Given the description of an element on the screen output the (x, y) to click on. 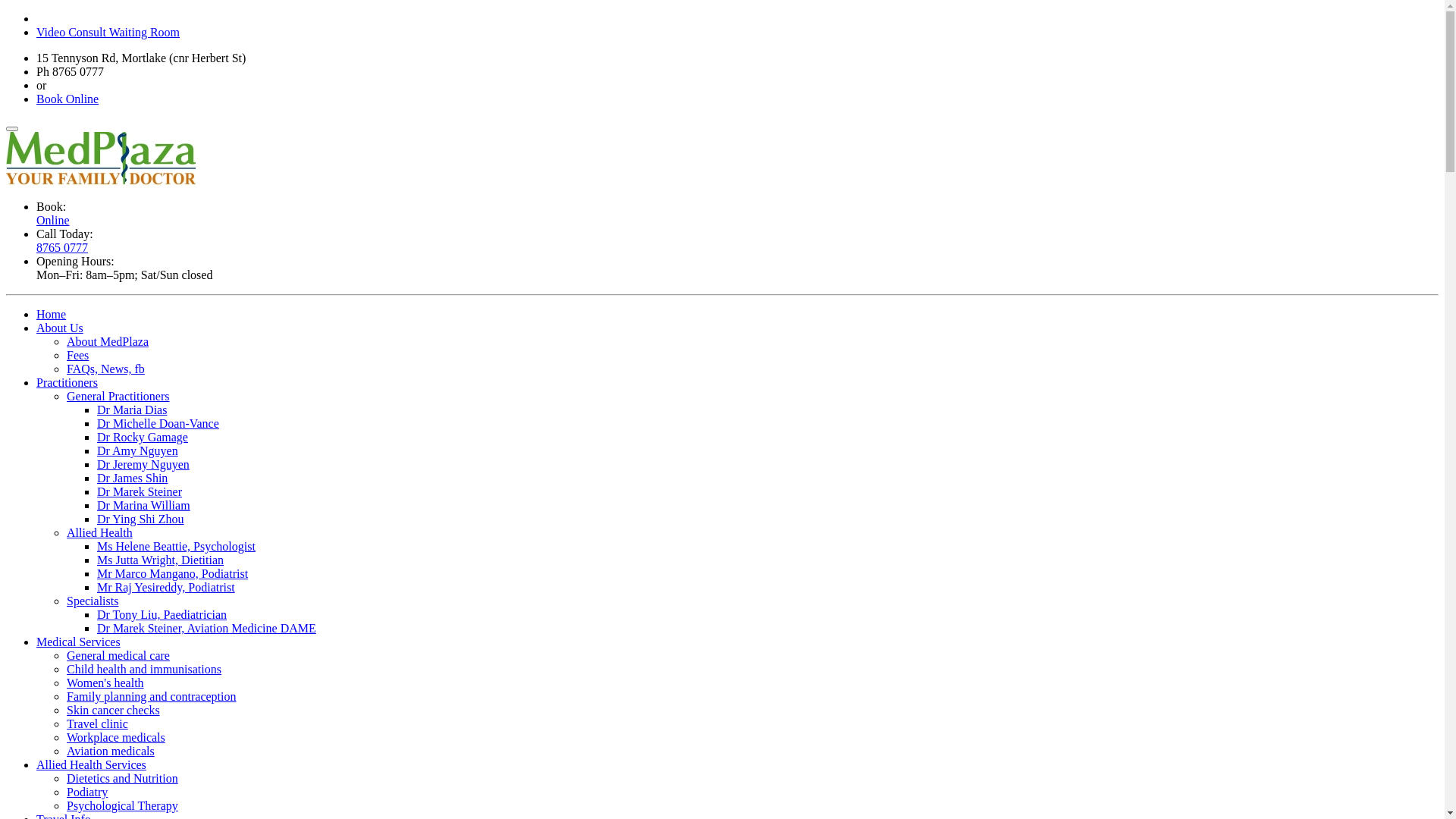
Mr Marco Mangano, Podiatrist Element type: text (172, 573)
Dr Marek Steiner, Aviation Medicine DAME Element type: text (206, 627)
Allied Health Element type: text (99, 532)
Child health and immunisations Element type: text (143, 668)
Dr James Shin Element type: text (132, 477)
Workplace medicals Element type: text (115, 737)
Skin cancer checks Element type: text (113, 709)
Fees Element type: text (77, 354)
Ms Helene Beattie, Psychologist Element type: text (176, 545)
FAQs, News, fb Element type: text (105, 368)
Dr Rocky Gamage Element type: text (142, 436)
Podiatry Element type: text (86, 791)
Dr Tony Liu, Paediatrician Element type: text (161, 614)
General medical care Element type: text (117, 655)
Dr Marek Steiner Element type: text (139, 491)
Home Element type: text (50, 313)
8765 0777 Element type: text (61, 247)
Family planning and contraception Element type: text (151, 696)
General Practitioners Element type: text (117, 395)
Psychological Therapy Element type: text (122, 805)
About MedPlaza Element type: text (107, 341)
Dietetics and Nutrition Element type: text (122, 777)
Mr Raj Yesireddy, Podiatrist Element type: text (166, 586)
Online Element type: text (52, 219)
Women's health Element type: text (105, 682)
Dr Marina William Element type: text (143, 504)
Aviation medicals Element type: text (110, 750)
Video Consult Waiting Room Element type: text (107, 31)
Ms Jutta Wright, Dietitian Element type: text (160, 559)
Dr Michelle Doan-Vance Element type: text (158, 423)
Specialists Element type: text (92, 600)
Travel clinic Element type: text (97, 723)
Practitioners Element type: text (66, 382)
Dr Jeremy Nguyen Element type: text (143, 464)
About Us Element type: text (59, 327)
Book Online Element type: text (67, 98)
Dr Maria Dias Element type: text (131, 409)
Dr Ying Shi Zhou Element type: text (140, 518)
Medical Services Element type: text (78, 641)
Dr Amy Nguyen Element type: text (137, 450)
Allied Health Services Element type: text (91, 764)
